Given the description of an element on the screen output the (x, y) to click on. 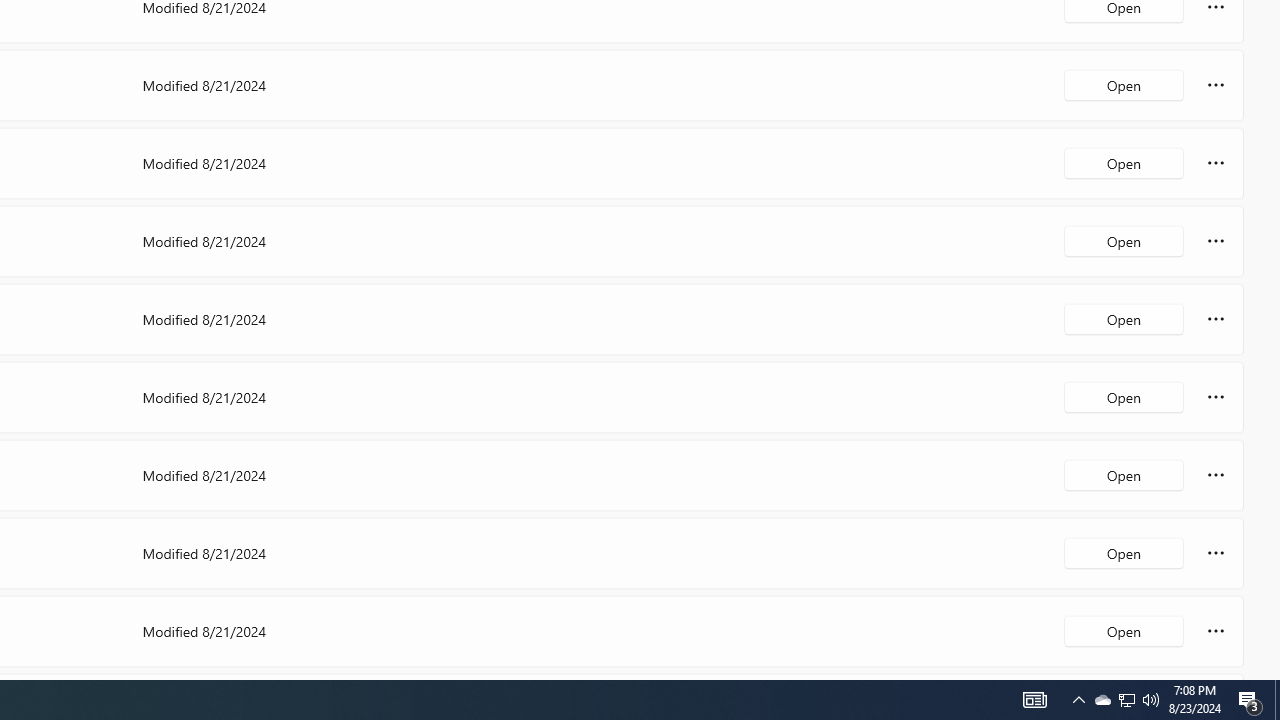
Open (1123, 630)
More options (1215, 630)
